Given the description of an element on the screen output the (x, y) to click on. 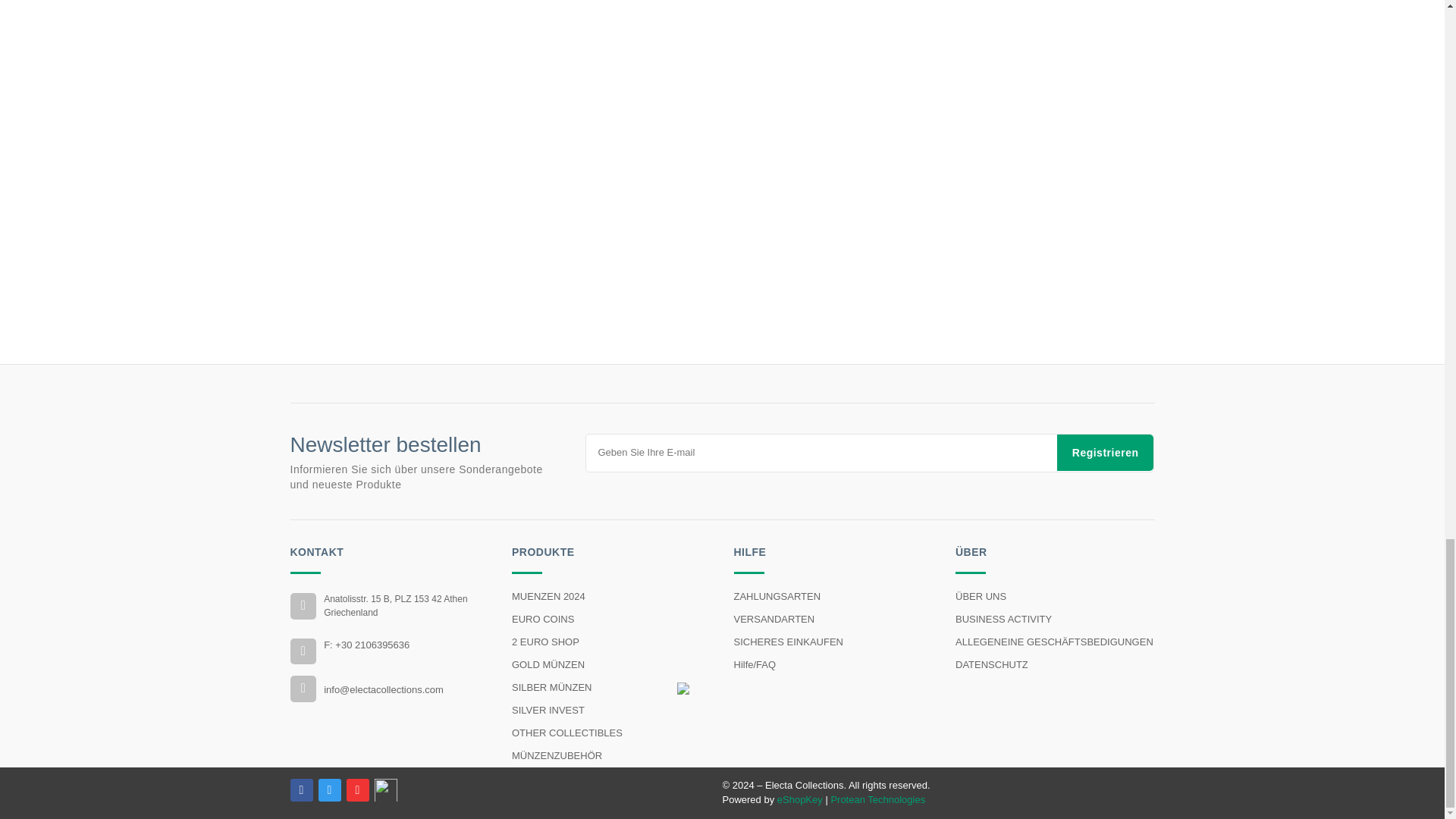
OTHER COLLECTIBLES (611, 732)
SILVER INVEST (611, 710)
Twitter (329, 789)
MUENZEN 2024 (611, 596)
Facebook (301, 789)
SICHERES EINKAUFEN (833, 641)
2 EURO SHOP (611, 641)
DATENSCHUTZ (1054, 664)
EURO COINS (611, 619)
ZAHLUNGSARTEN (833, 596)
BUSINESS ACTIVITY (1054, 619)
VERSANDARTEN (833, 619)
